Given the description of an element on the screen output the (x, y) to click on. 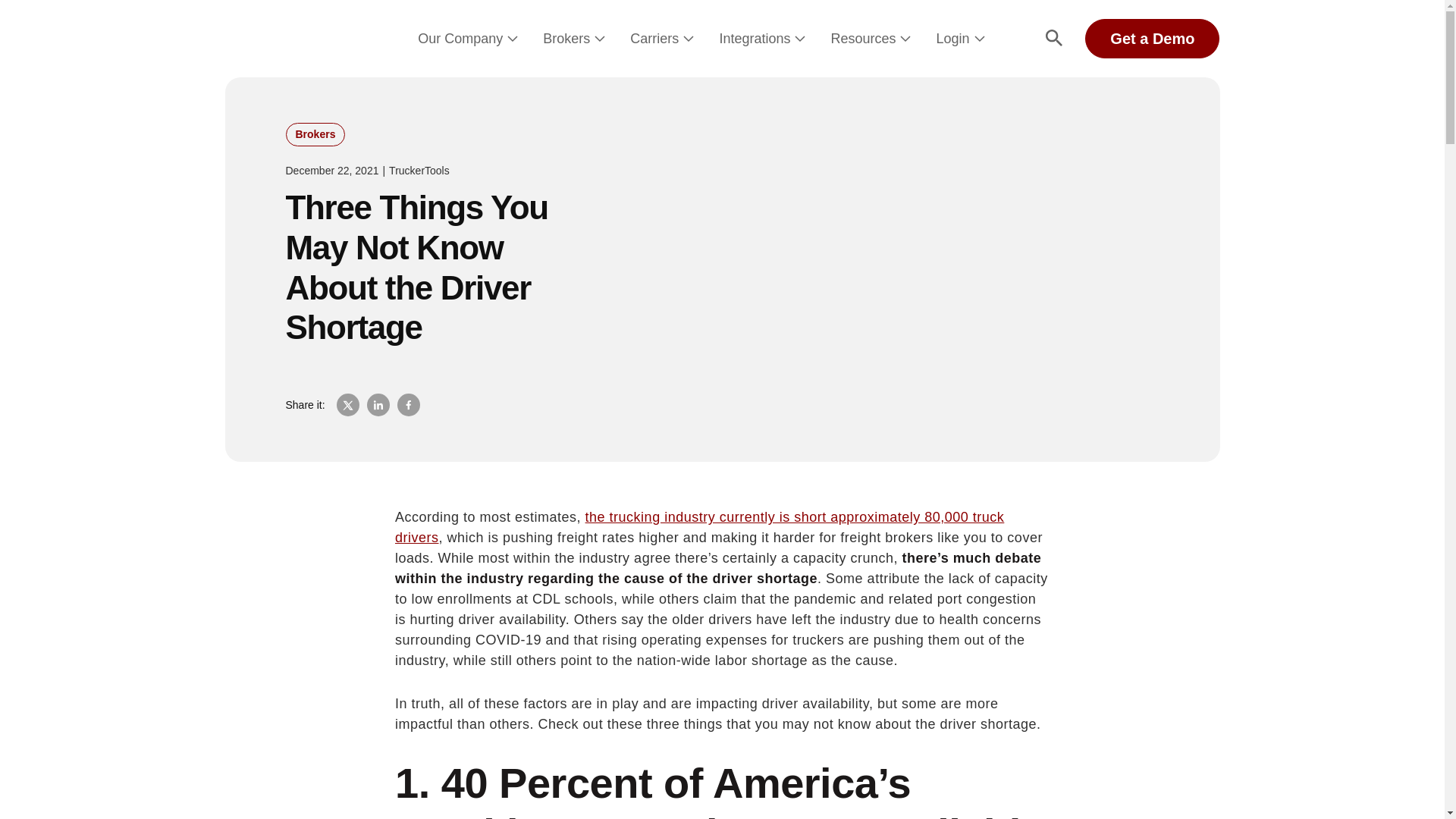
Brokers (315, 134)
Brokers (566, 38)
Get a Demo (1152, 38)
Our Company (459, 38)
Carriers (654, 38)
Login (952, 38)
Integrations (754, 38)
Trucker Tools (291, 38)
Resources (862, 38)
